Given the description of an element on the screen output the (x, y) to click on. 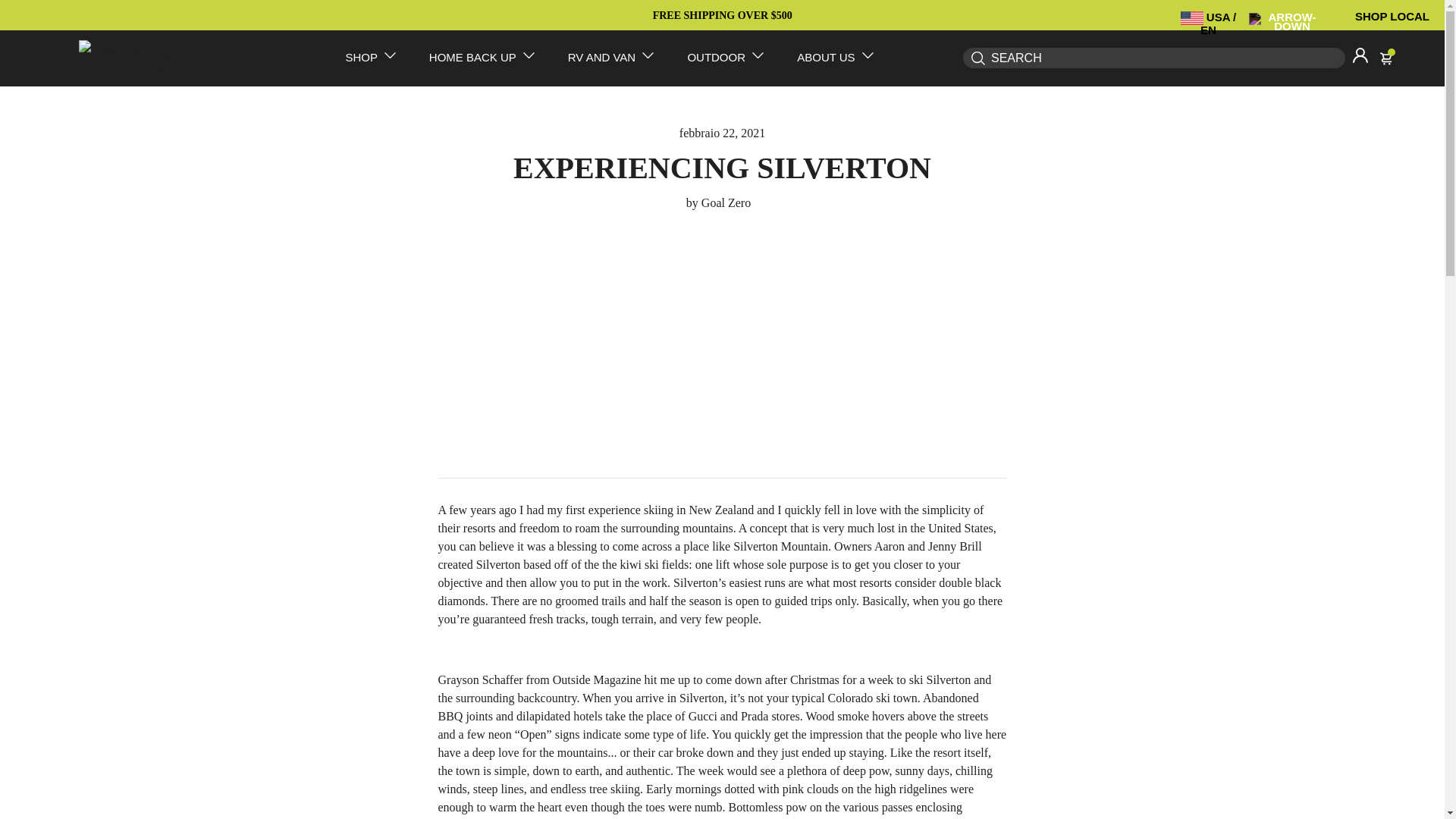
SHOP LOCAL (1392, 15)
